Given the description of an element on the screen output the (x, y) to click on. 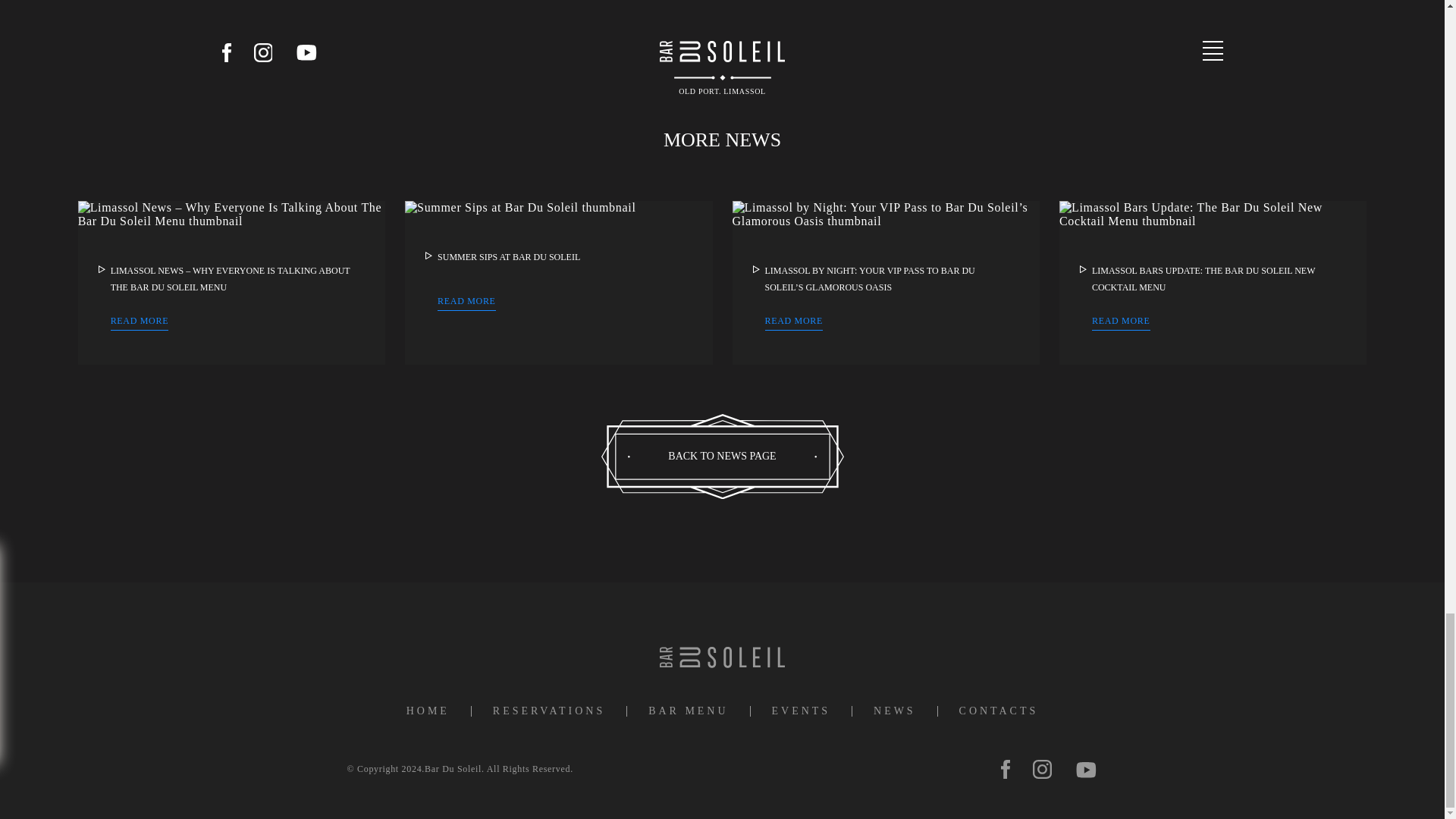
HOME (427, 710)
READ MORE (1121, 322)
READ MORE (139, 322)
LIMASSOL BARS UPDATE: THE BAR DU SOLEIL NEW COCKTAIL MENU (1203, 278)
EVENTS (801, 710)
BACK TO NEWS PAGE (721, 455)
READ MORE (793, 322)
BAR MENU (687, 710)
SUMMER SIPS AT BAR DU SOLEIL (508, 256)
RESERVATIONS (549, 710)
